Given the description of an element on the screen output the (x, y) to click on. 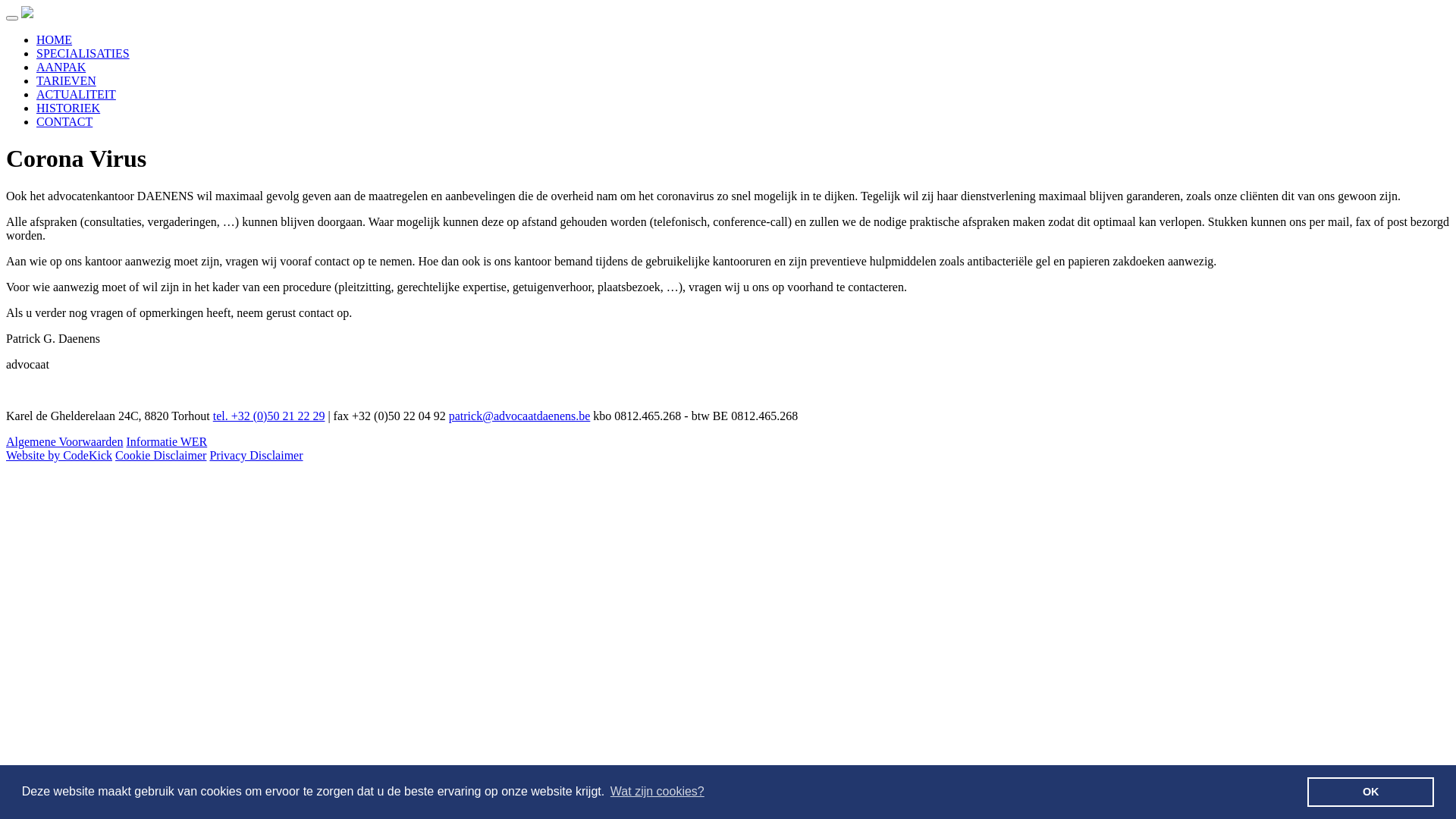
Cookie Disclaimer Element type: text (160, 454)
Informatie WER Element type: text (166, 441)
HOME Element type: text (54, 39)
Algemene Voorwaarden Element type: text (64, 441)
patrick@advocaatdaenens.be Element type: text (519, 415)
SPECIALISATIES Element type: text (82, 53)
ACTUALITEIT Element type: text (76, 93)
Website by CodeKick Element type: text (59, 454)
AANPAK Element type: text (60, 66)
OK Element type: text (1370, 791)
TARIEVEN Element type: text (66, 80)
Privacy Disclaimer Element type: text (255, 454)
HISTORIEK Element type: text (68, 107)
tel. +32 (0)50 21 22 29 Element type: text (269, 415)
Wat zijn cookies? Element type: text (657, 791)
CONTACT Element type: text (64, 121)
